Given the description of an element on the screen output the (x, y) to click on. 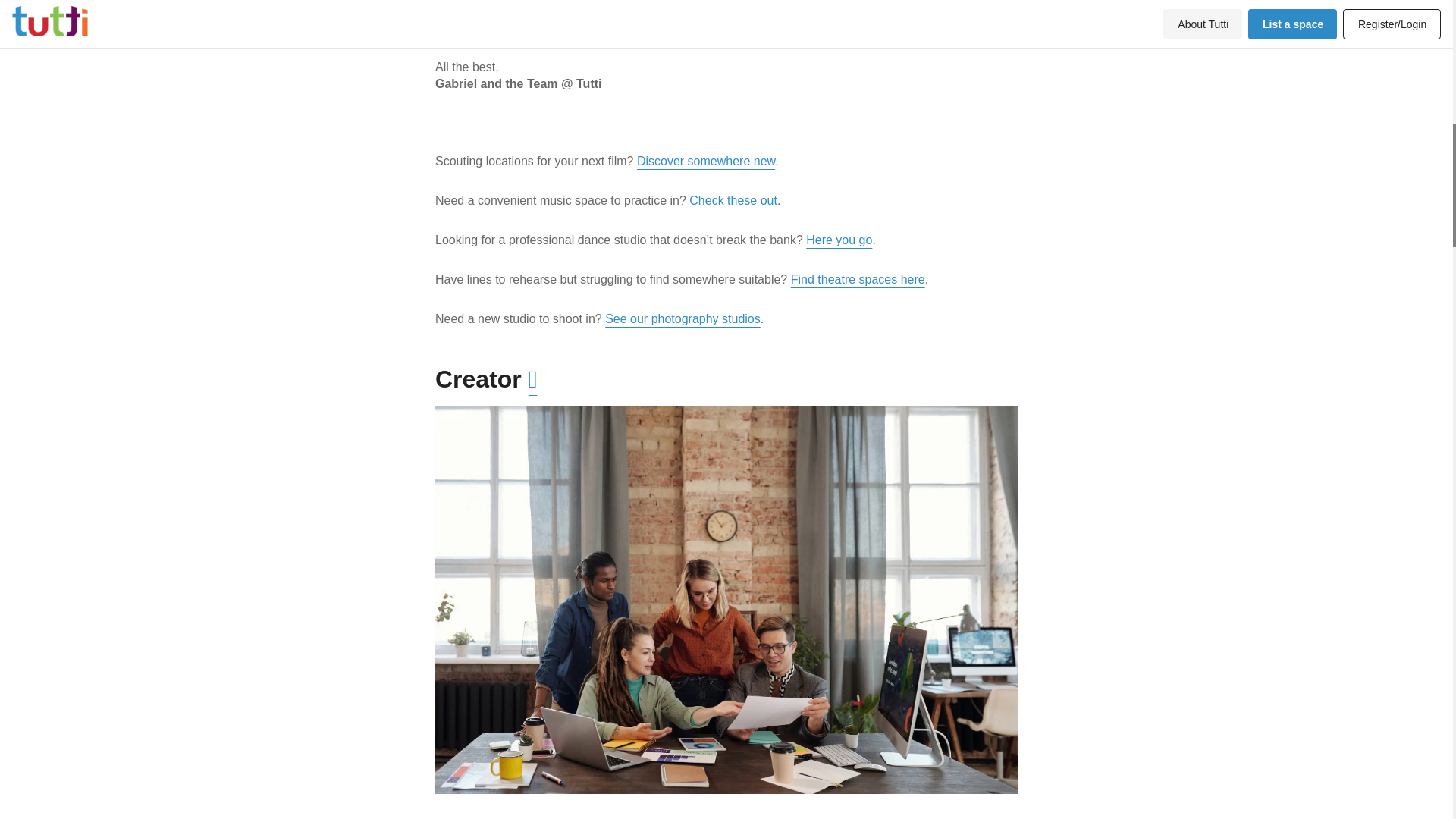
Discover somewhere new (705, 160)
See our photography studios (682, 318)
Check these out (732, 200)
Here you go (839, 239)
Find theatre spaces here (857, 278)
